Given the description of an element on the screen output the (x, y) to click on. 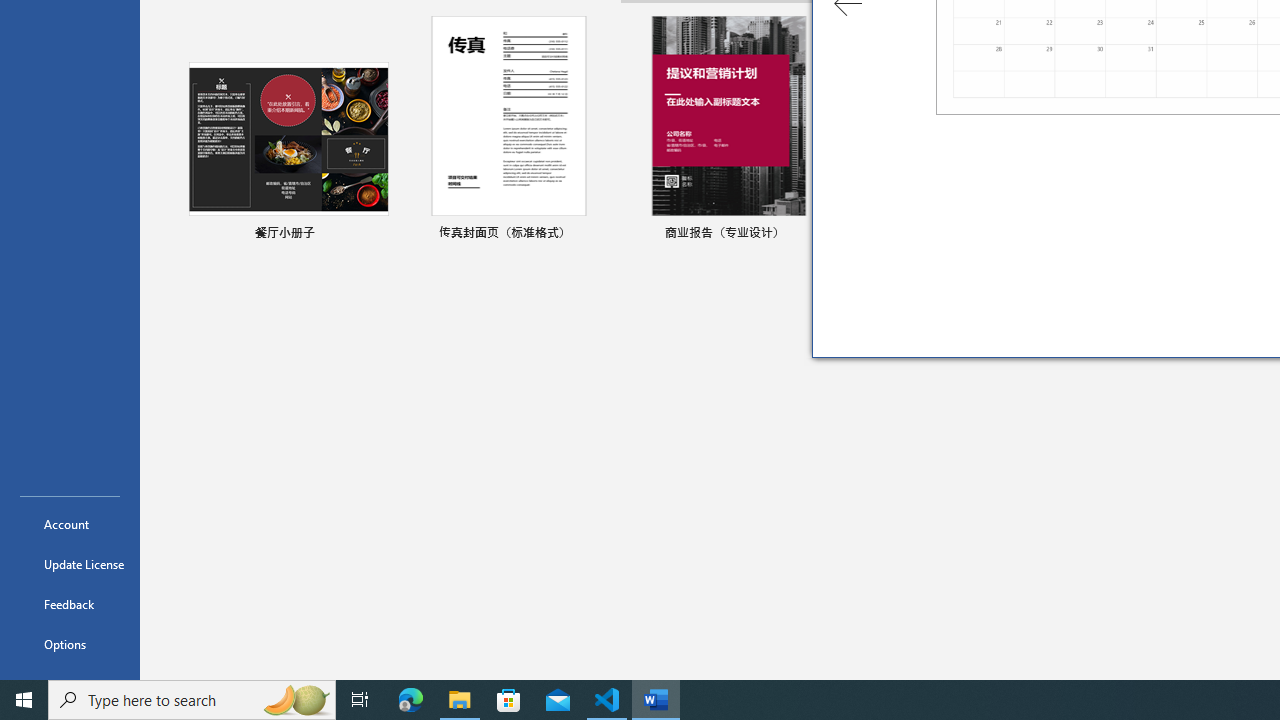
Options (69, 643)
Visual Studio Code - 1 running window (607, 699)
Feedback (69, 603)
Start (24, 699)
Microsoft Edge (411, 699)
File Explorer - 1 running window (460, 699)
Task View (359, 699)
Pin to list (595, 234)
Microsoft Store (509, 699)
Type here to search (191, 699)
Word - 1 running window (656, 699)
Account (69, 523)
